Given the description of an element on the screen output the (x, y) to click on. 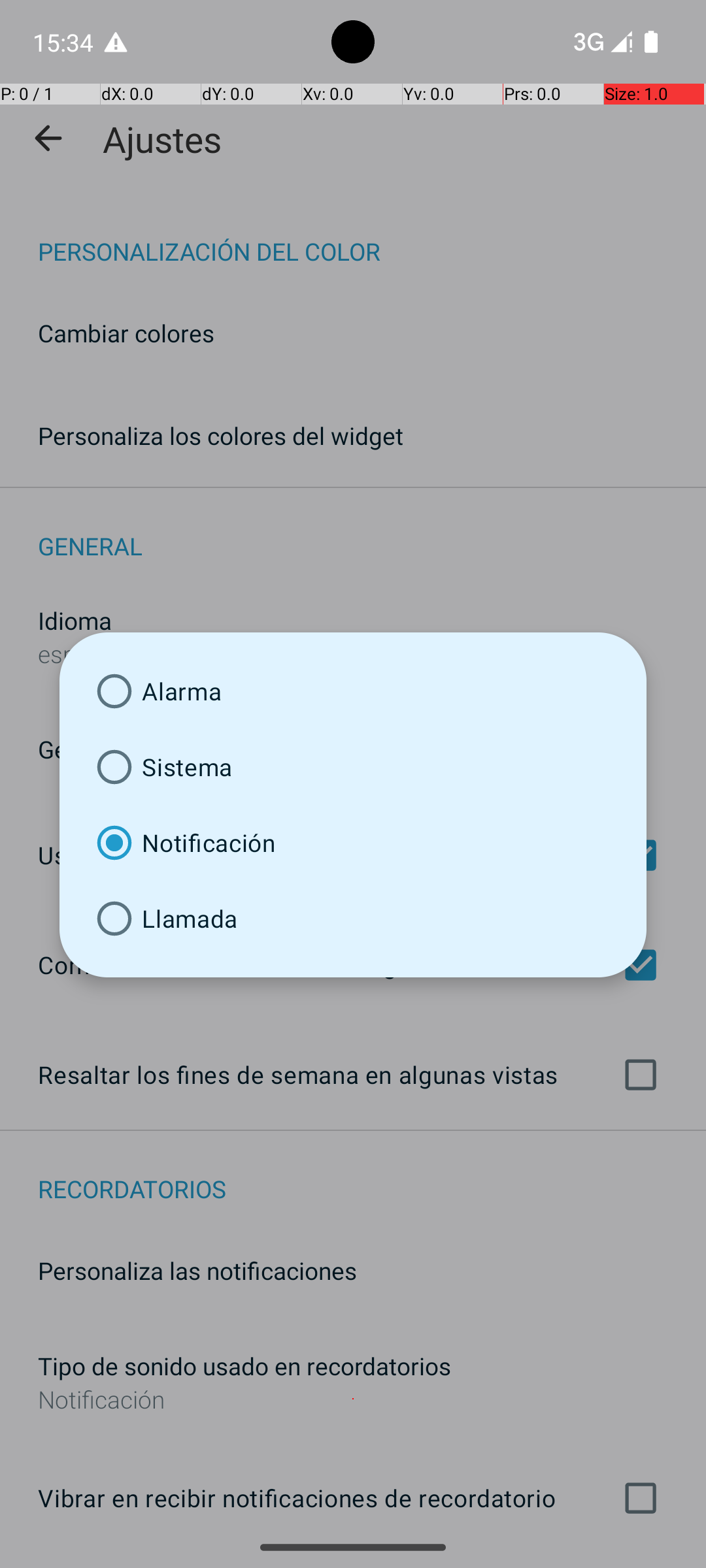
Alarma Element type: android.widget.RadioButton (352, 691)
Sistema Element type: android.widget.RadioButton (352, 766)
Notificación Element type: android.widget.RadioButton (352, 842)
Llamada Element type: android.widget.RadioButton (352, 918)
